Given the description of an element on the screen output the (x, y) to click on. 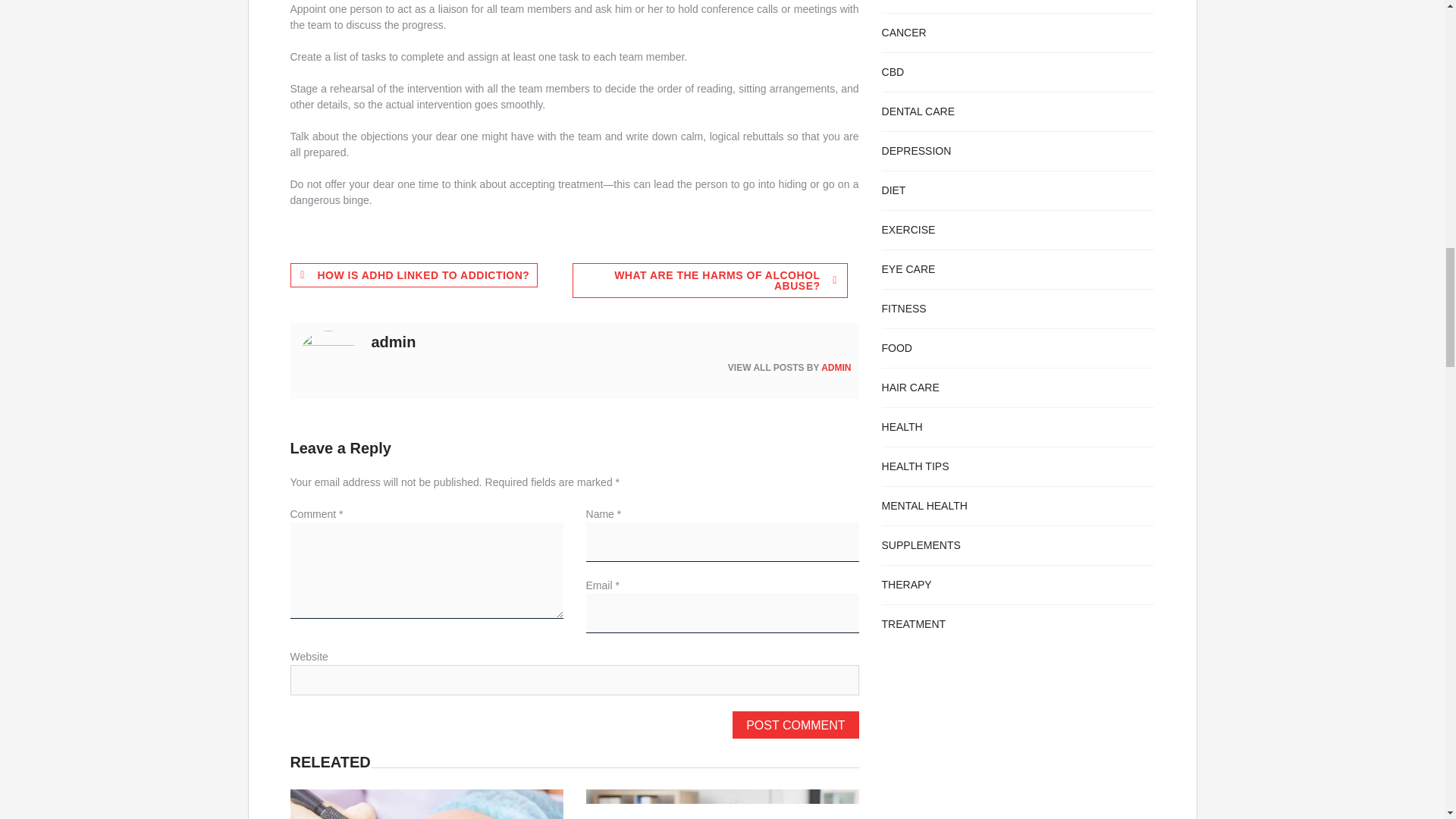
Post Comment (795, 724)
HOW IS ADHD LINKED TO ADDICTION? (413, 274)
Post Comment (795, 724)
WHAT ARE THE HARMS OF ALCOHOL ABUSE? (709, 280)
ADMIN (835, 367)
